Given the description of an element on the screen output the (x, y) to click on. 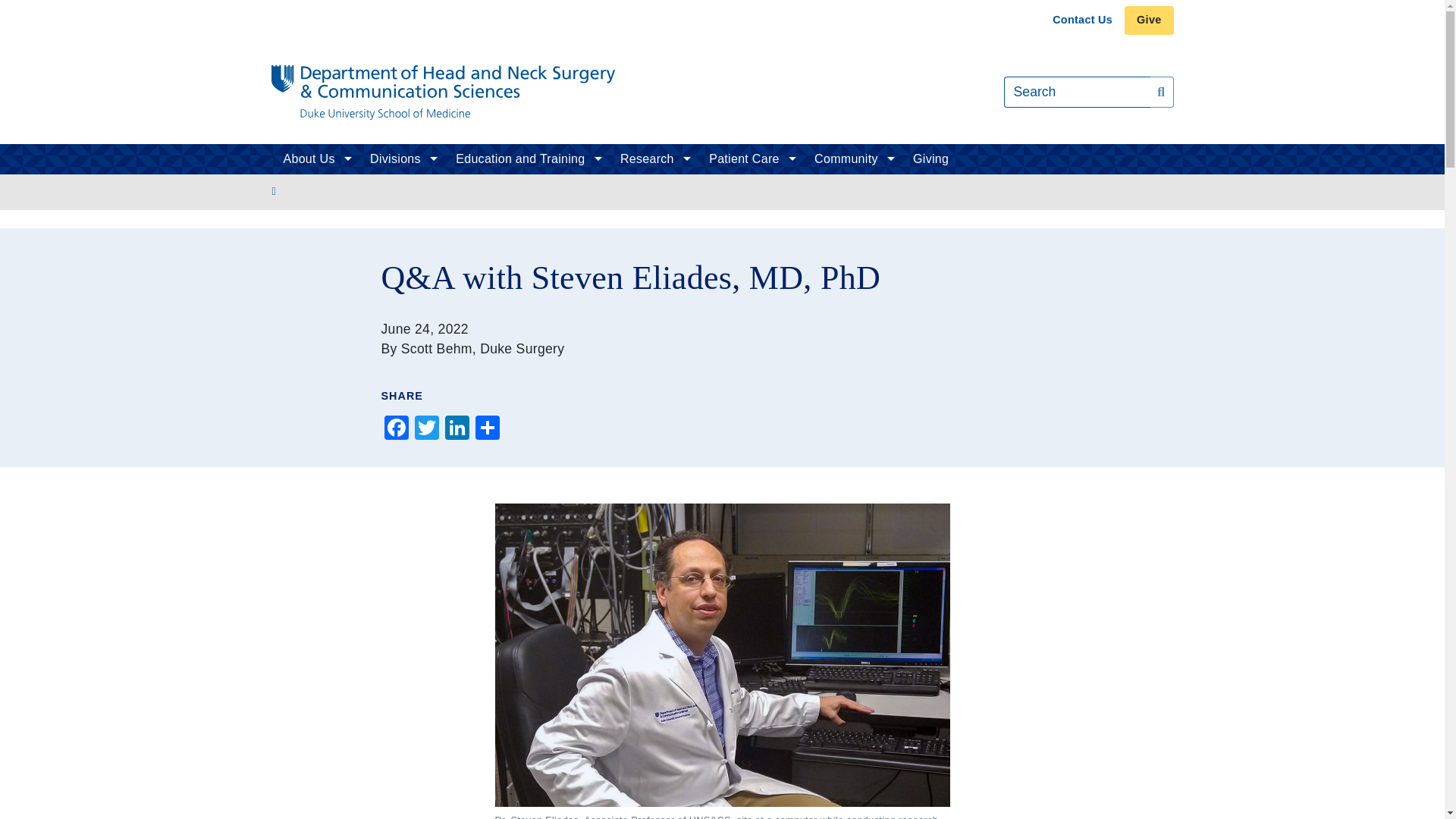
Skip to main content (721, 1)
Contact Us (1082, 20)
Divisions (401, 159)
About Us (314, 159)
Research (652, 159)
Give (1148, 20)
Education and Training (526, 159)
Home (442, 92)
Enter the terms you wish to search for. (1077, 91)
